Given the description of an element on the screen output the (x, y) to click on. 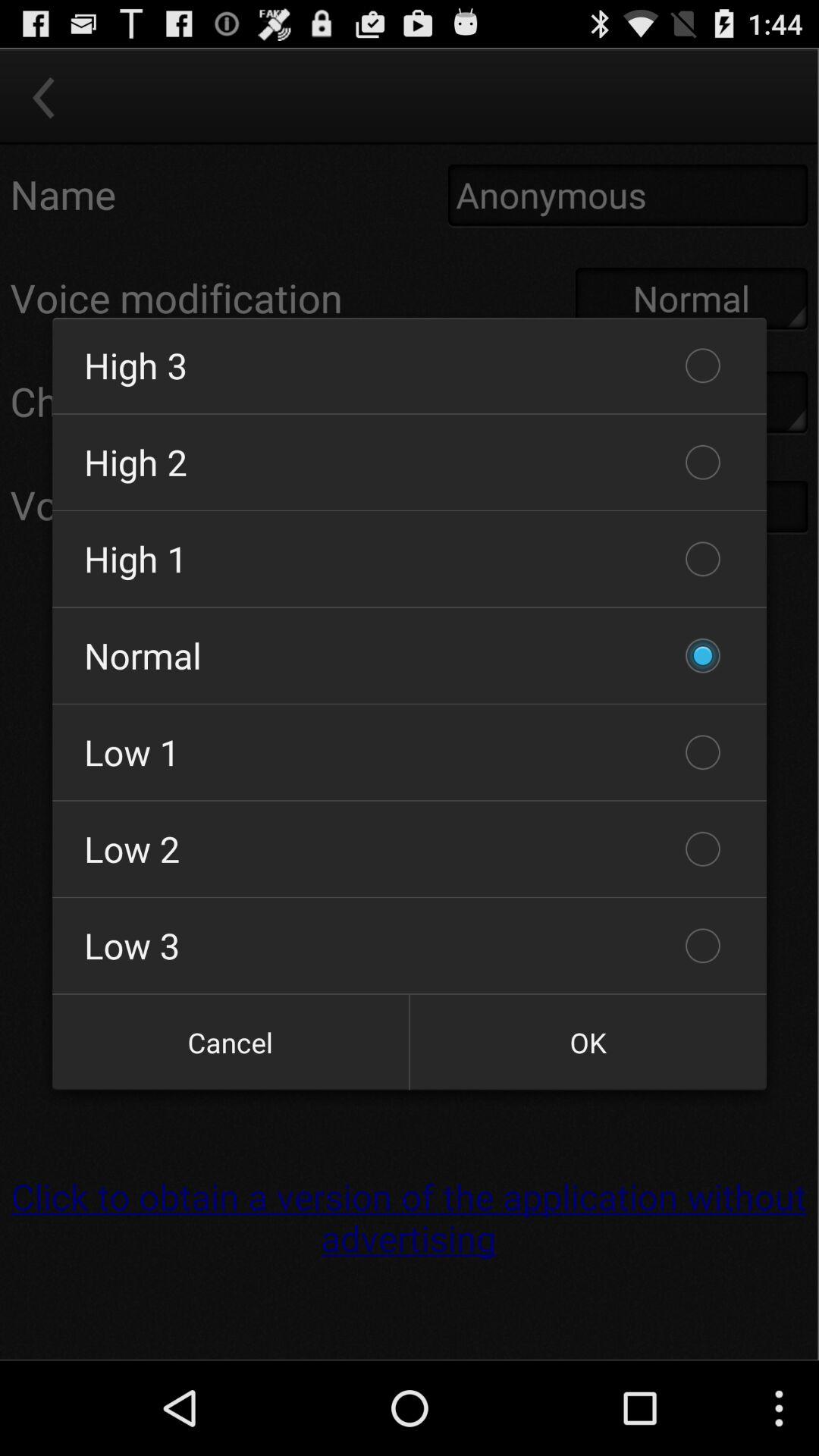
click the cancel icon (230, 1042)
